Given the description of an element on the screen output the (x, y) to click on. 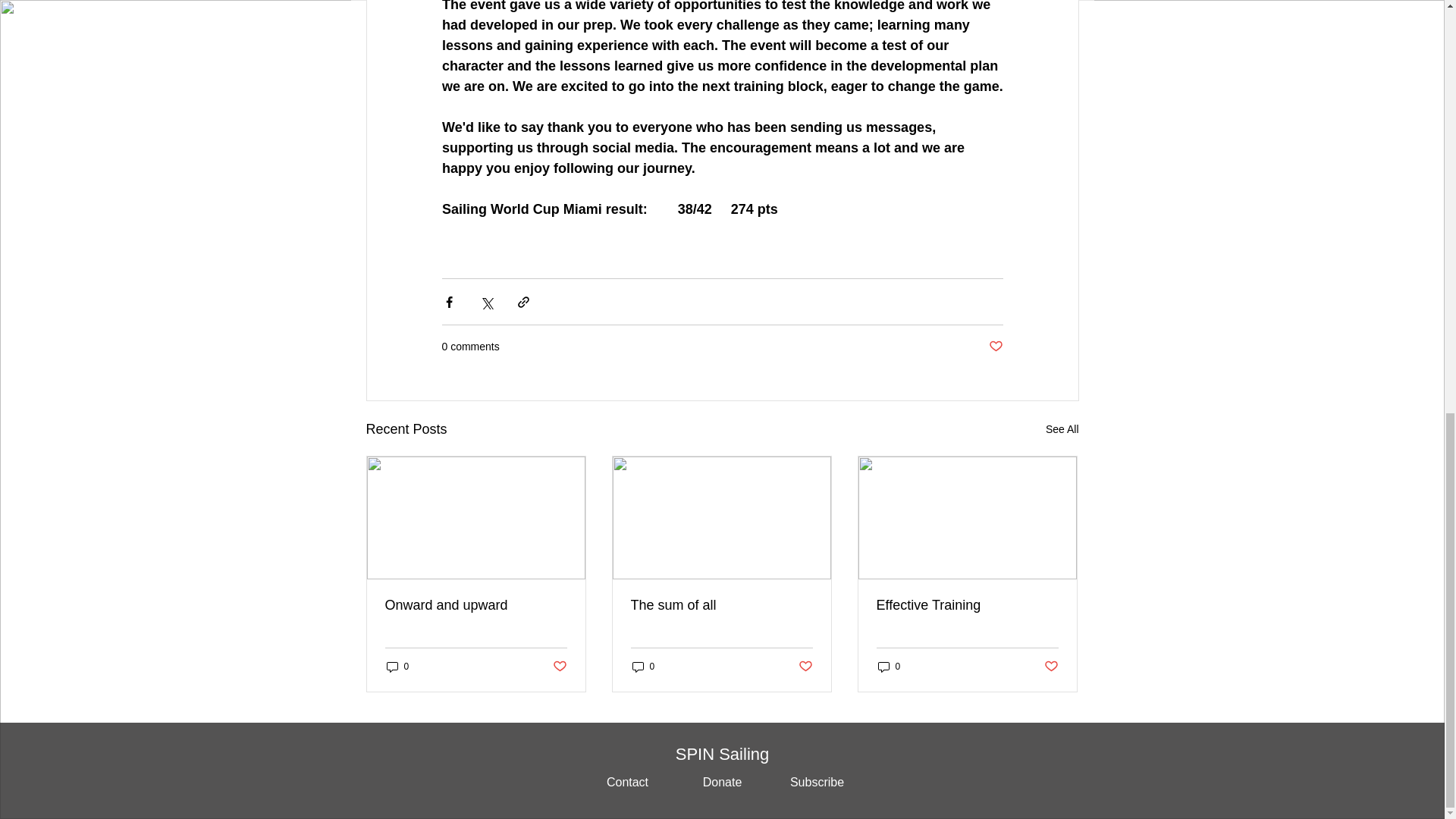
The sum of all (721, 605)
0 (643, 667)
Post not marked as liked (804, 666)
Donate (722, 782)
Effective Training (967, 605)
0 (397, 667)
0 (889, 667)
Subscribe (815, 782)
Post not marked as liked (995, 346)
Onward and upward (476, 605)
